Given the description of an element on the screen output the (x, y) to click on. 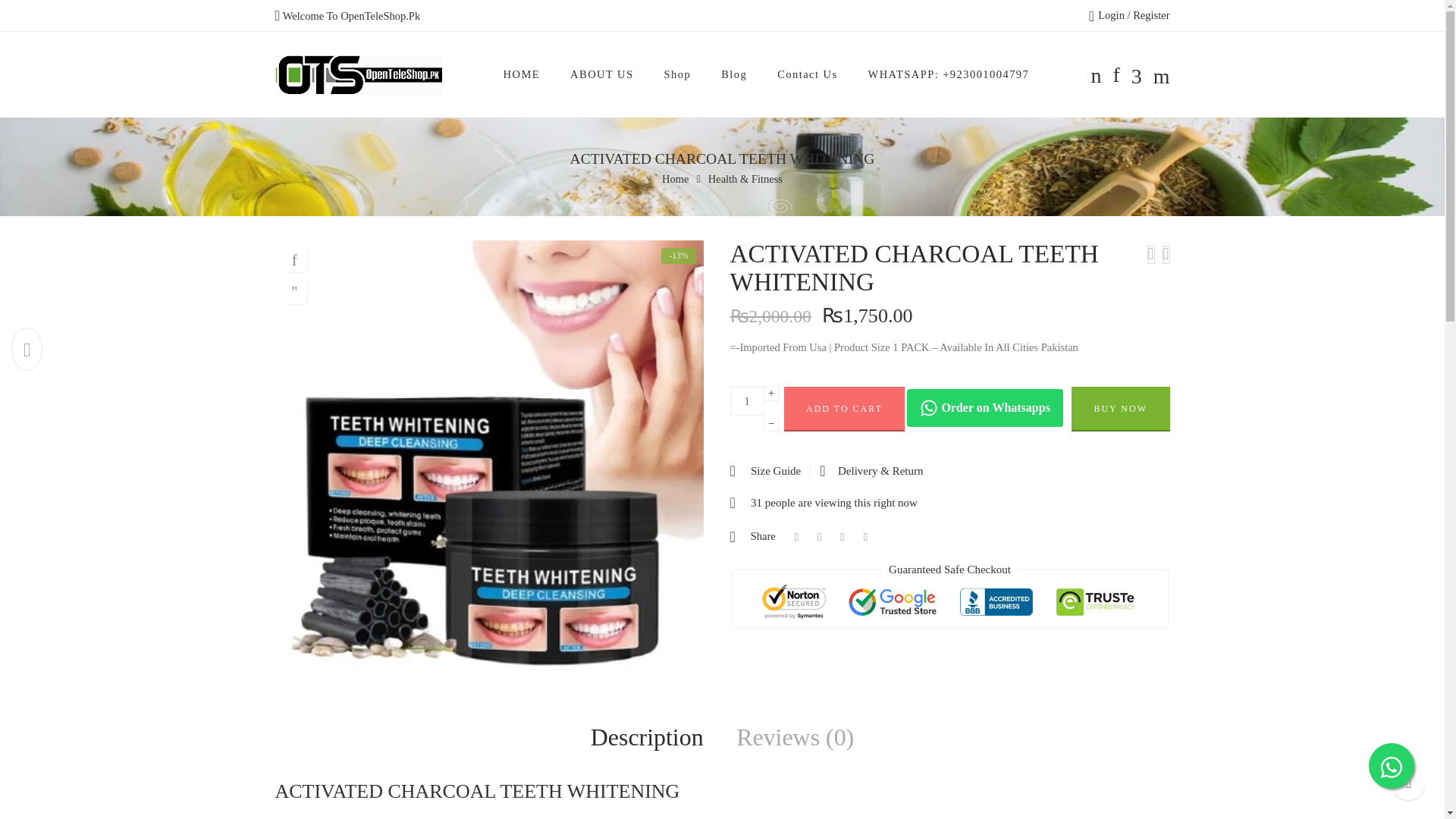
ABOUT US (601, 74)
1 (745, 400)
Open Tele Shop For Pakistan - Buy it at lesser prices (358, 75)
Contact Us (807, 74)
HOME (521, 74)
Contact Us (807, 74)
ABOUT US (601, 74)
Home (675, 179)
ADD TO CART (844, 408)
HOME (521, 74)
